Given the description of an element on the screen output the (x, y) to click on. 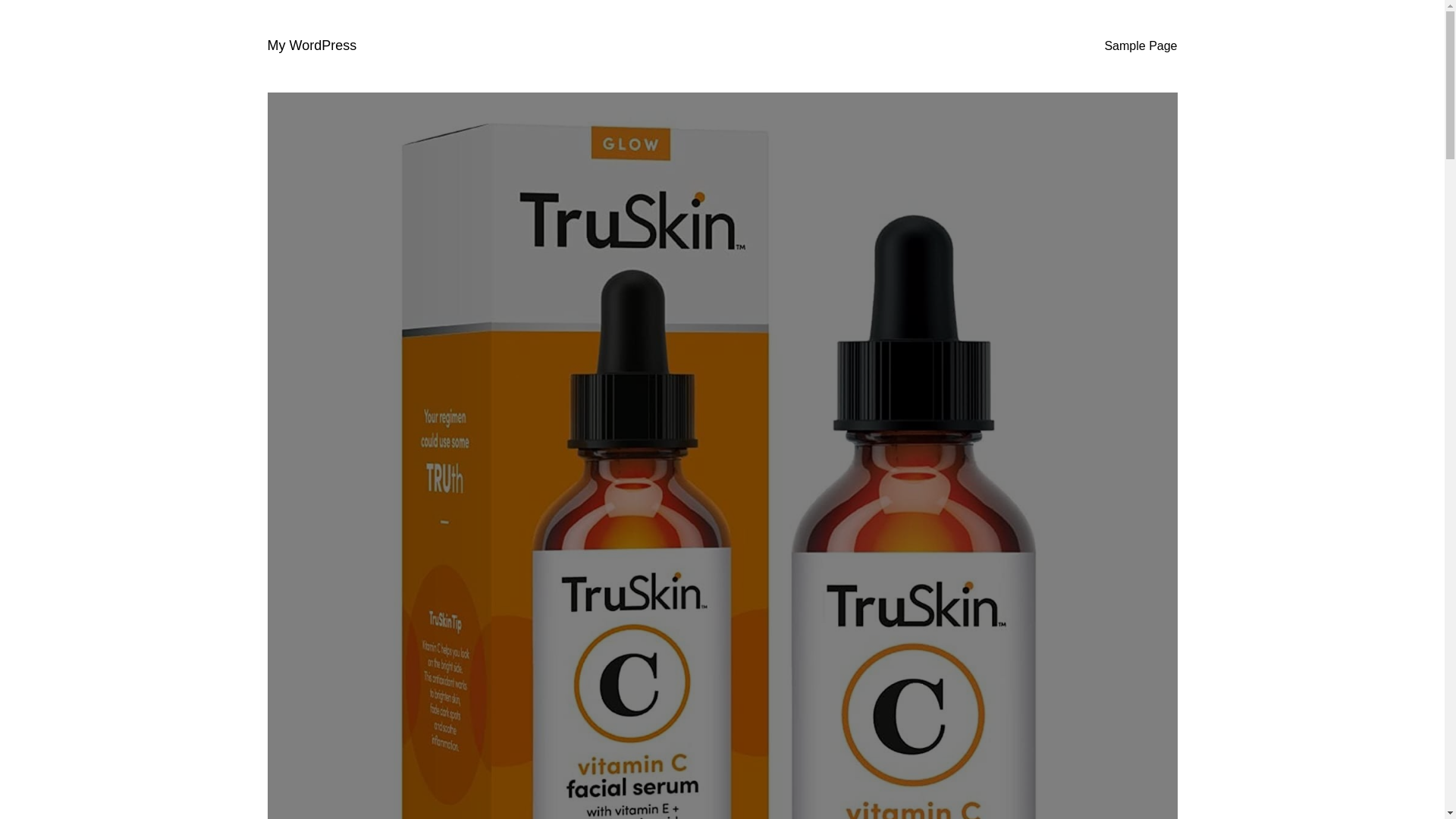
My WordPress (311, 45)
Sample Page (1139, 46)
